Given the description of an element on the screen output the (x, y) to click on. 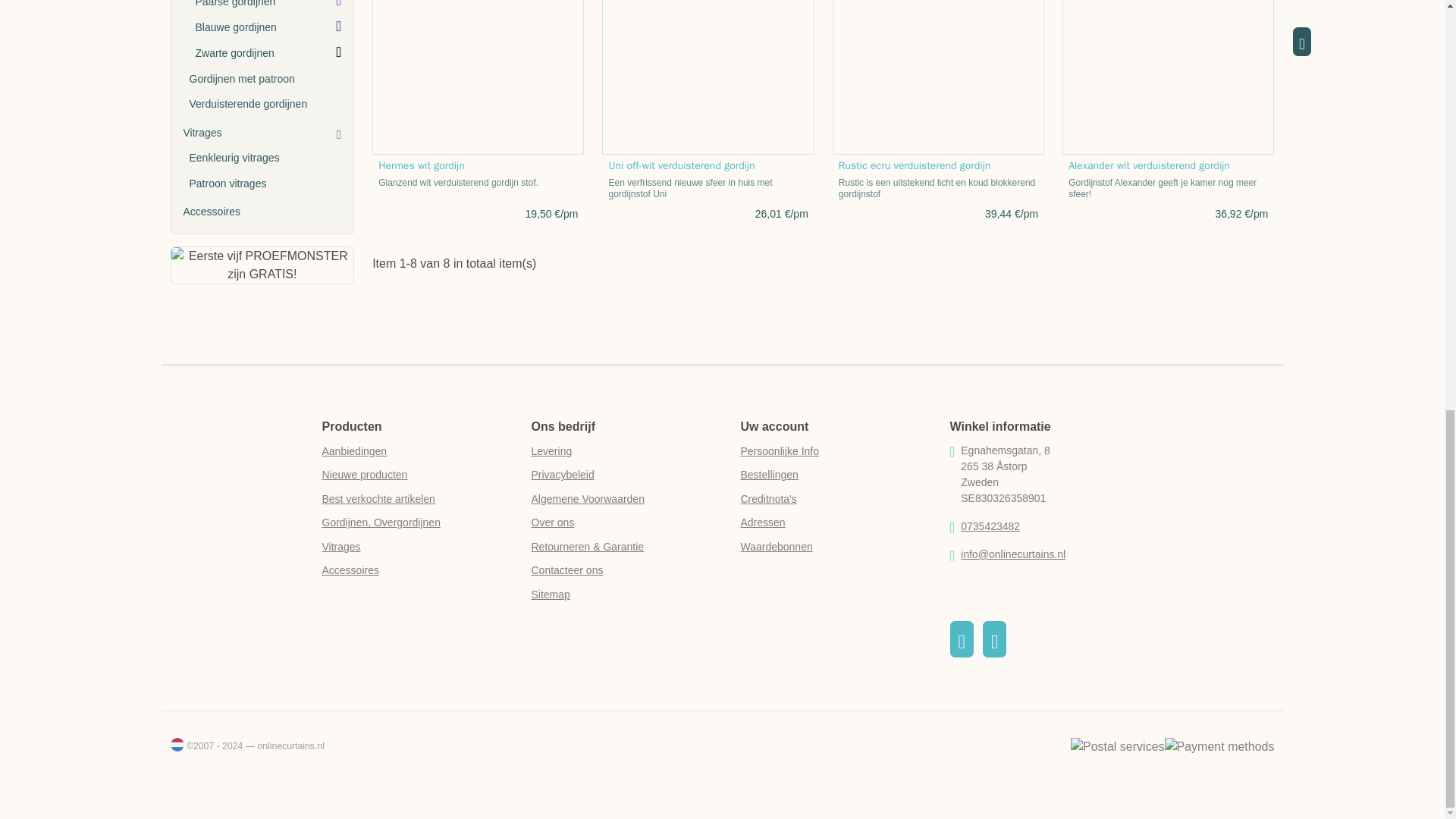
Bestellingen (768, 474)
De weg kwijt? Vinden wat u zoekt (550, 594)
Effen en patroon overgordijnen (380, 522)
Onze nieuwe producten (364, 474)
Gordijn garantie (587, 546)
Our special products (354, 451)
Onze leveringsvoorwaarden (551, 451)
Meer over ons weten (552, 522)
Onze best verkochte artikelen (377, 499)
